Given the description of an element on the screen output the (x, y) to click on. 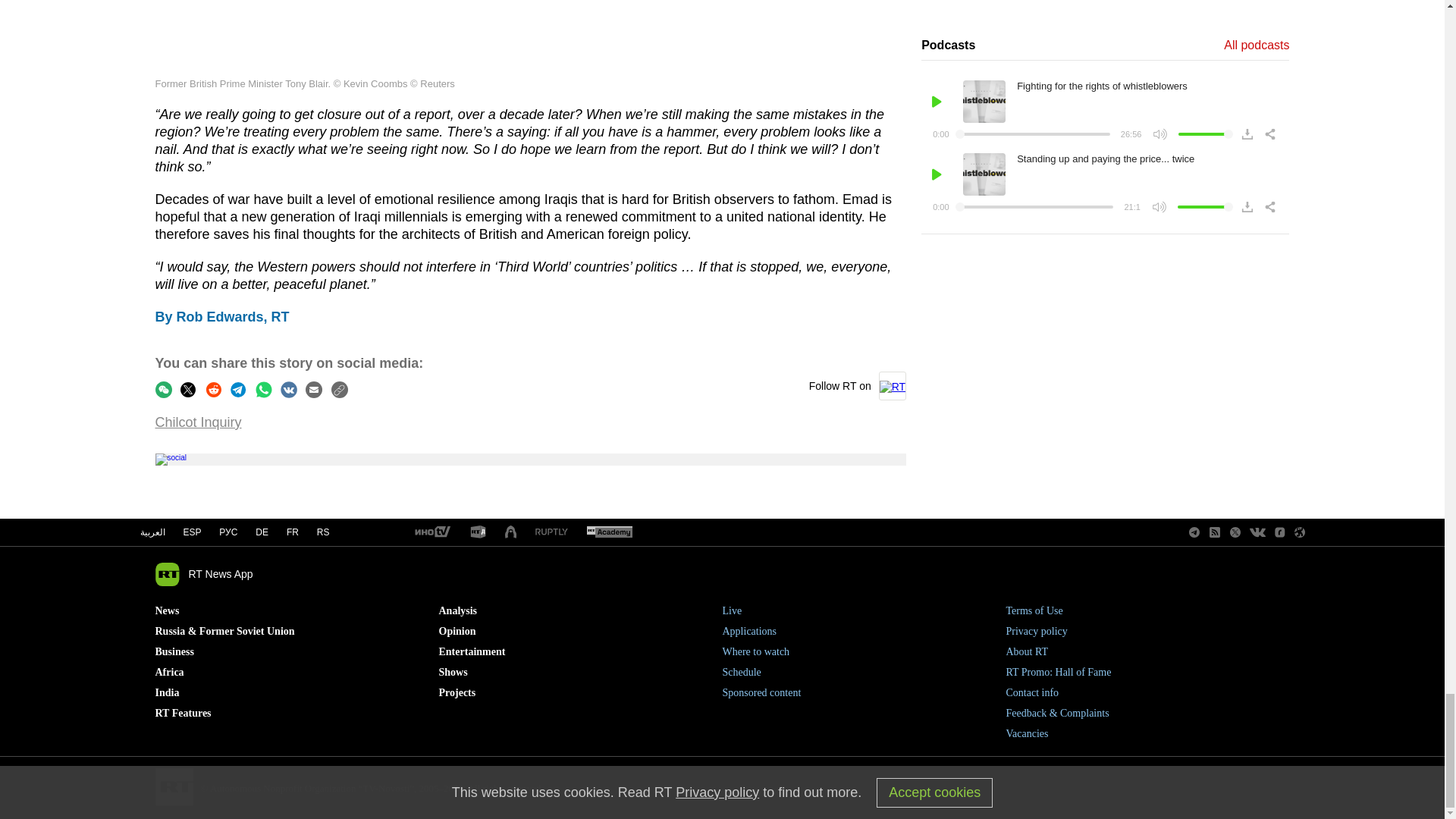
RT  (478, 532)
RT  (431, 532)
RT  (608, 532)
RT  (551, 532)
